Given the description of an element on the screen output the (x, y) to click on. 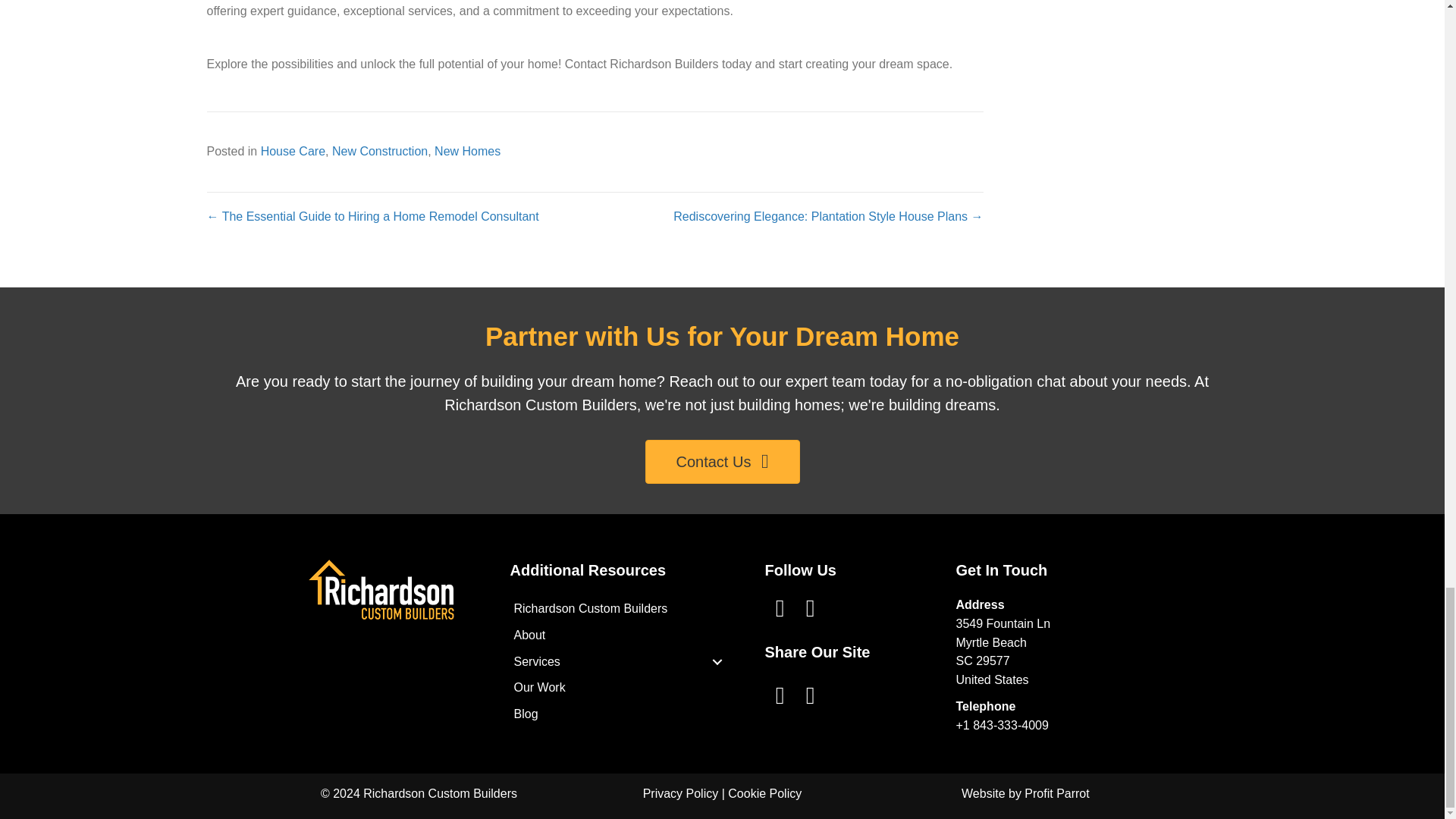
New Homes (466, 151)
Instagram (810, 607)
House Care (292, 151)
New Construction (379, 151)
Facebook (780, 607)
logo80whitetext (379, 589)
